Given the description of an element on the screen output the (x, y) to click on. 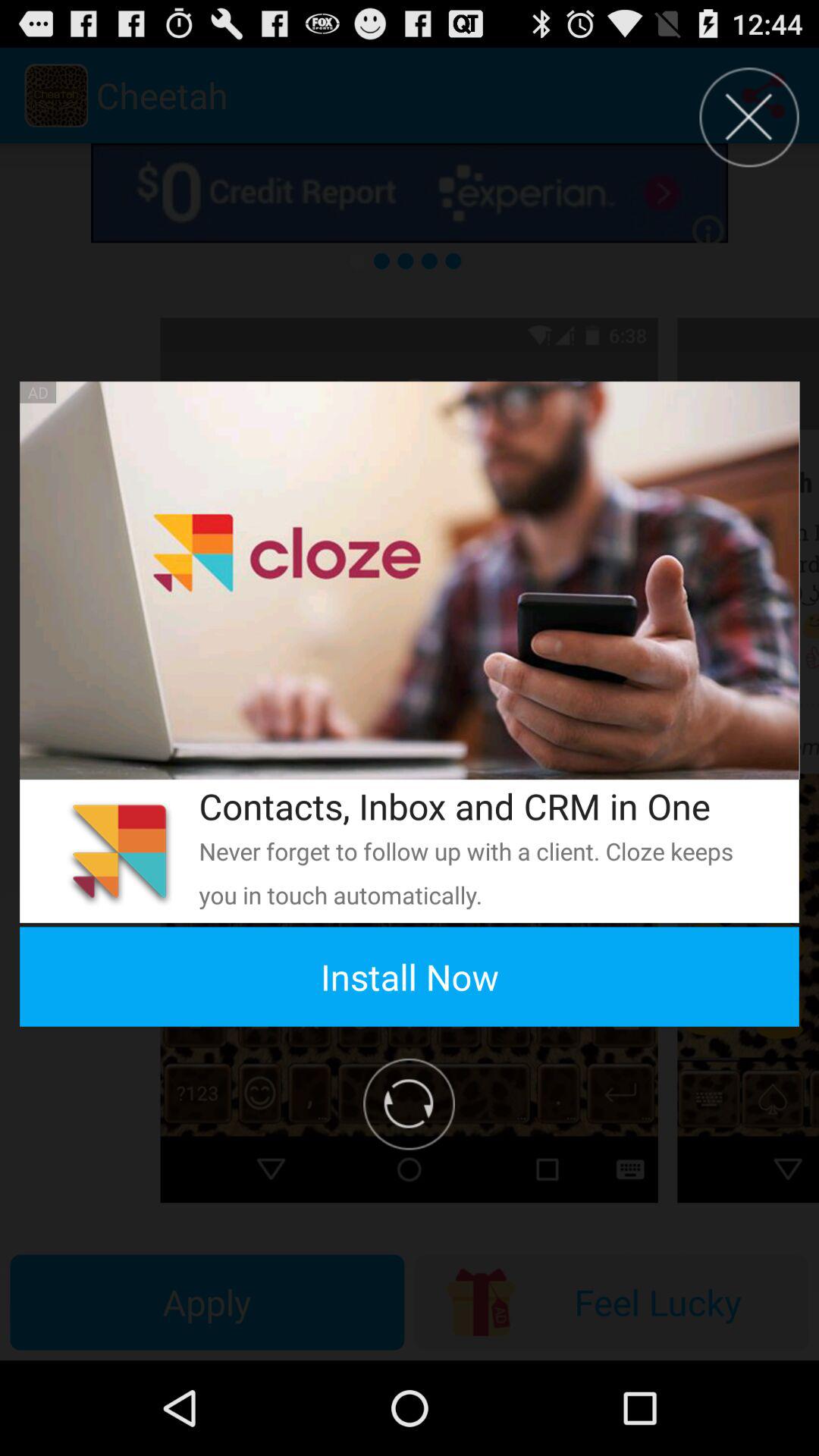
launch the contacts inbox and icon (479, 805)
